Given the description of an element on the screen output the (x, y) to click on. 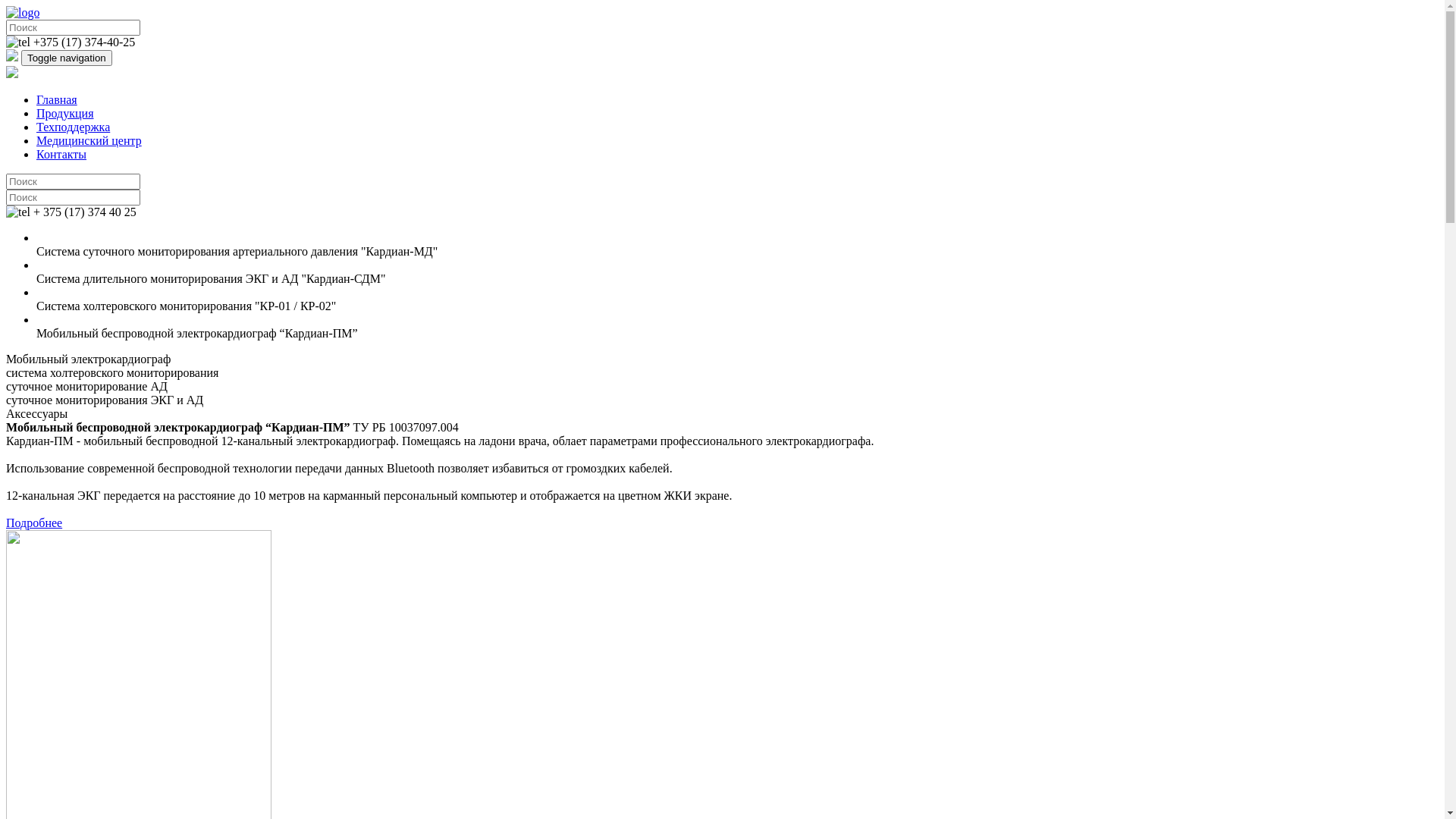
Toggle navigation Element type: text (66, 57)
